Given the description of an element on the screen output the (x, y) to click on. 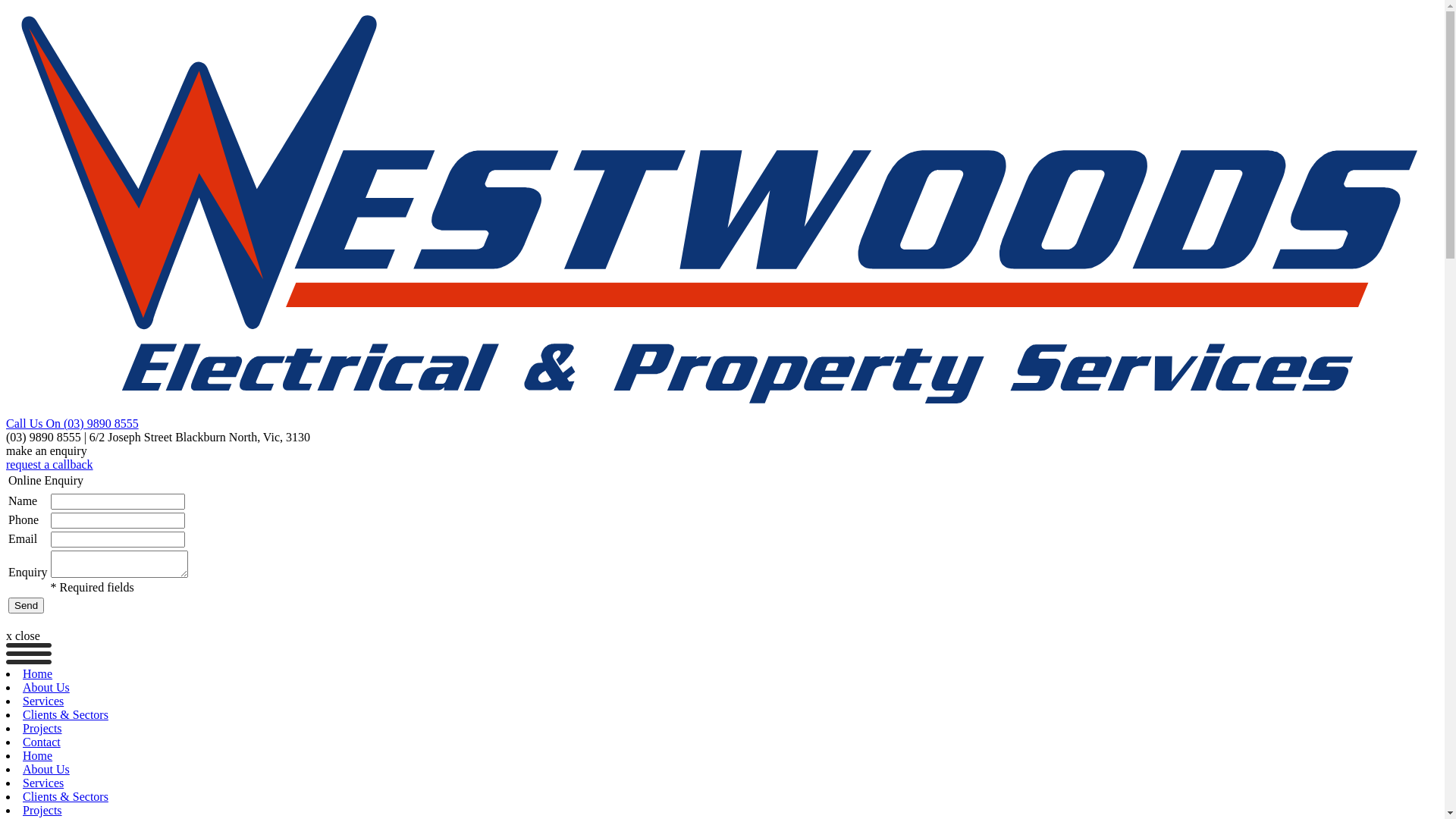
Send Element type: text (25, 605)
Home Element type: text (37, 755)
Projects Element type: text (42, 727)
Call Us On (03) 9890 8555 Element type: text (72, 423)
Contact Element type: text (41, 741)
Projects Element type: text (42, 809)
Services Element type: text (42, 700)
About Us Element type: text (45, 686)
Services Element type: text (42, 782)
Clients & Sectors Element type: text (65, 714)
Home Element type: text (37, 673)
request a callback Element type: text (722, 464)
About Us Element type: text (45, 768)
Clients & Sectors Element type: text (65, 796)
